Given the description of an element on the screen output the (x, y) to click on. 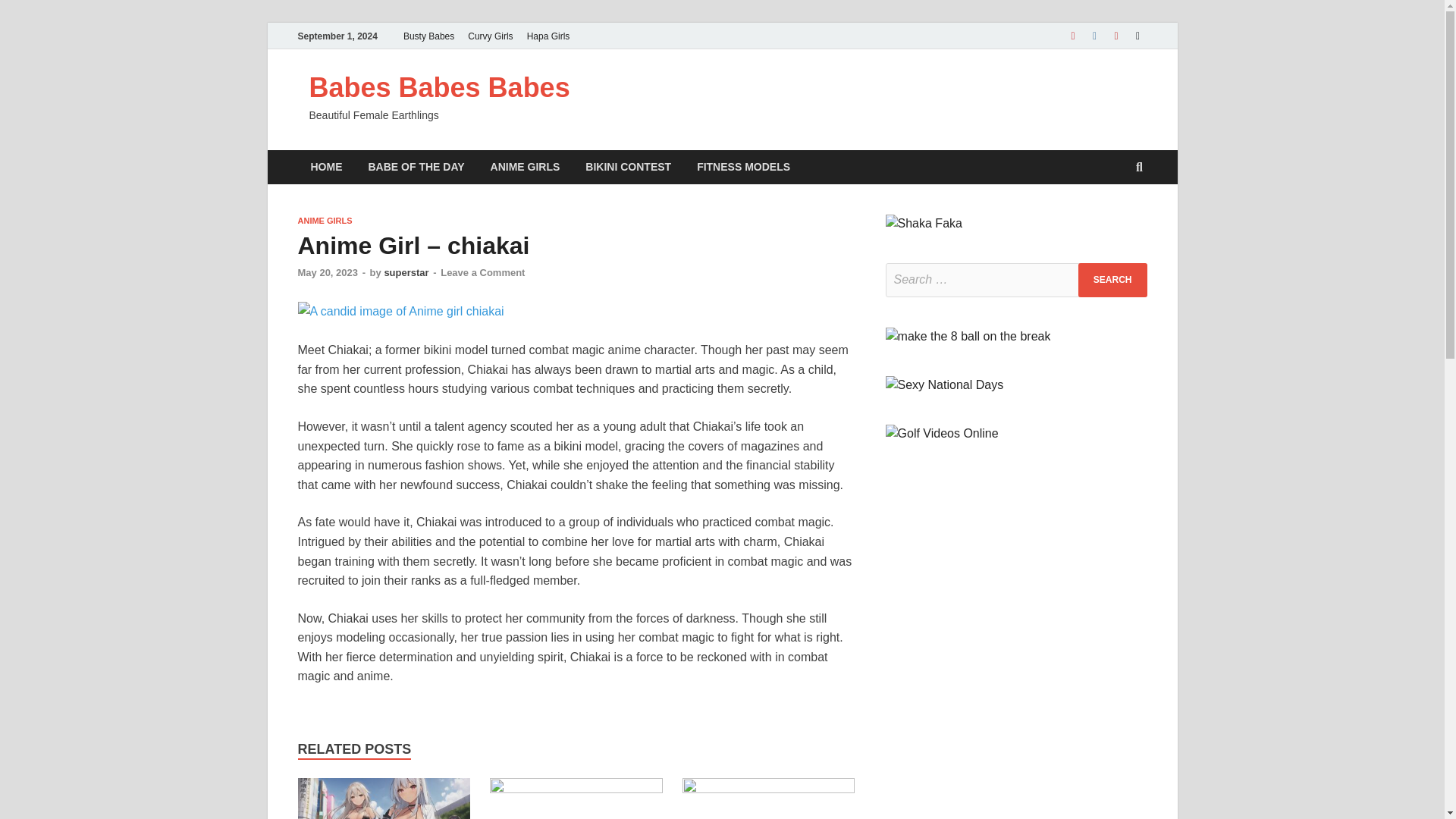
HOME (326, 166)
BIKINI CONTEST (628, 166)
Curvy Girls (490, 35)
Babes Babes Babes (439, 87)
FITNESS MODELS (743, 166)
Busty Babes (428, 35)
Search (1112, 279)
Hapa Girls (547, 35)
Search (1112, 279)
ANIME GIRLS (525, 166)
